Given the description of an element on the screen output the (x, y) to click on. 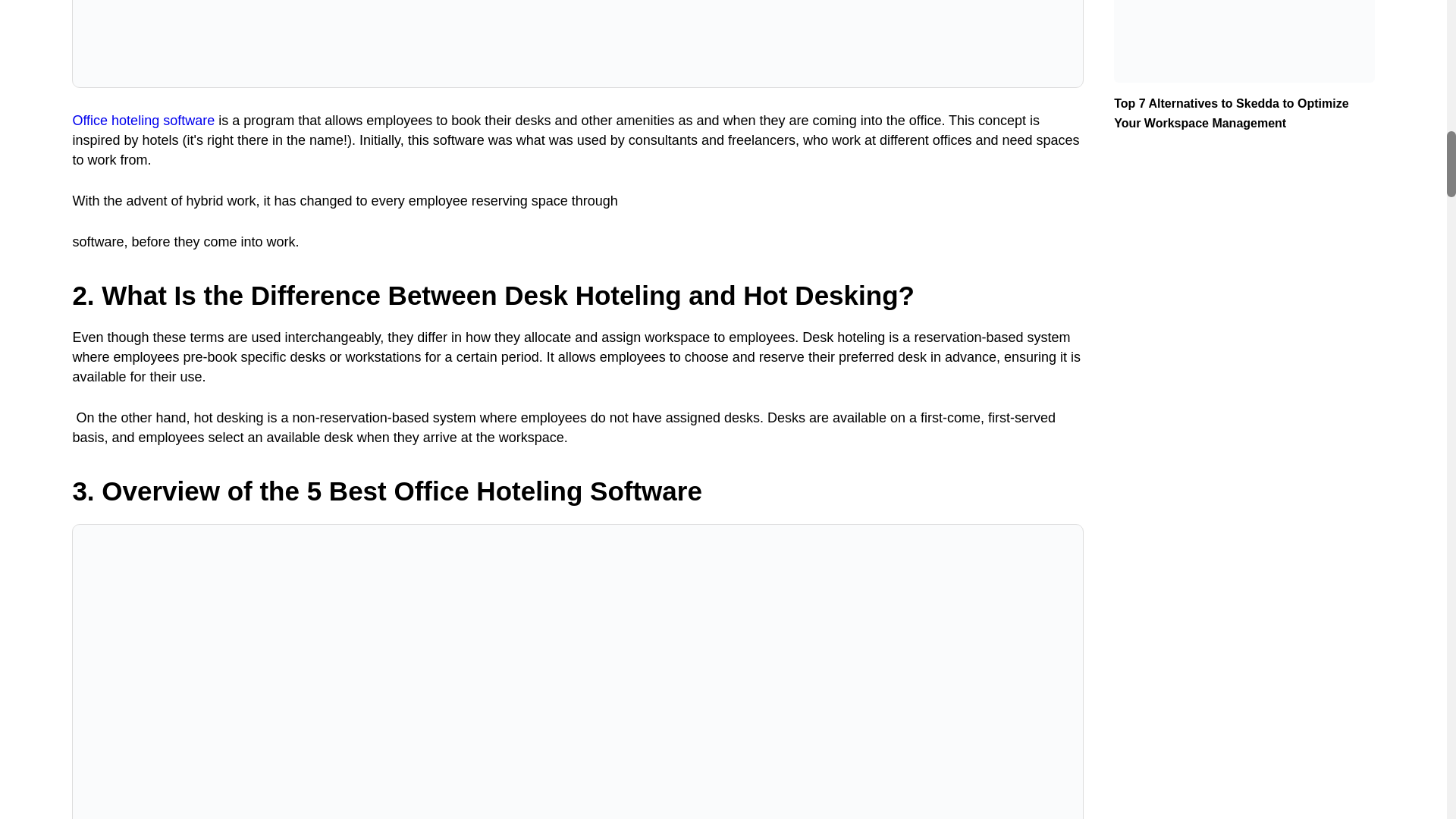
Office hoteling software (142, 120)
